Given the description of an element on the screen output the (x, y) to click on. 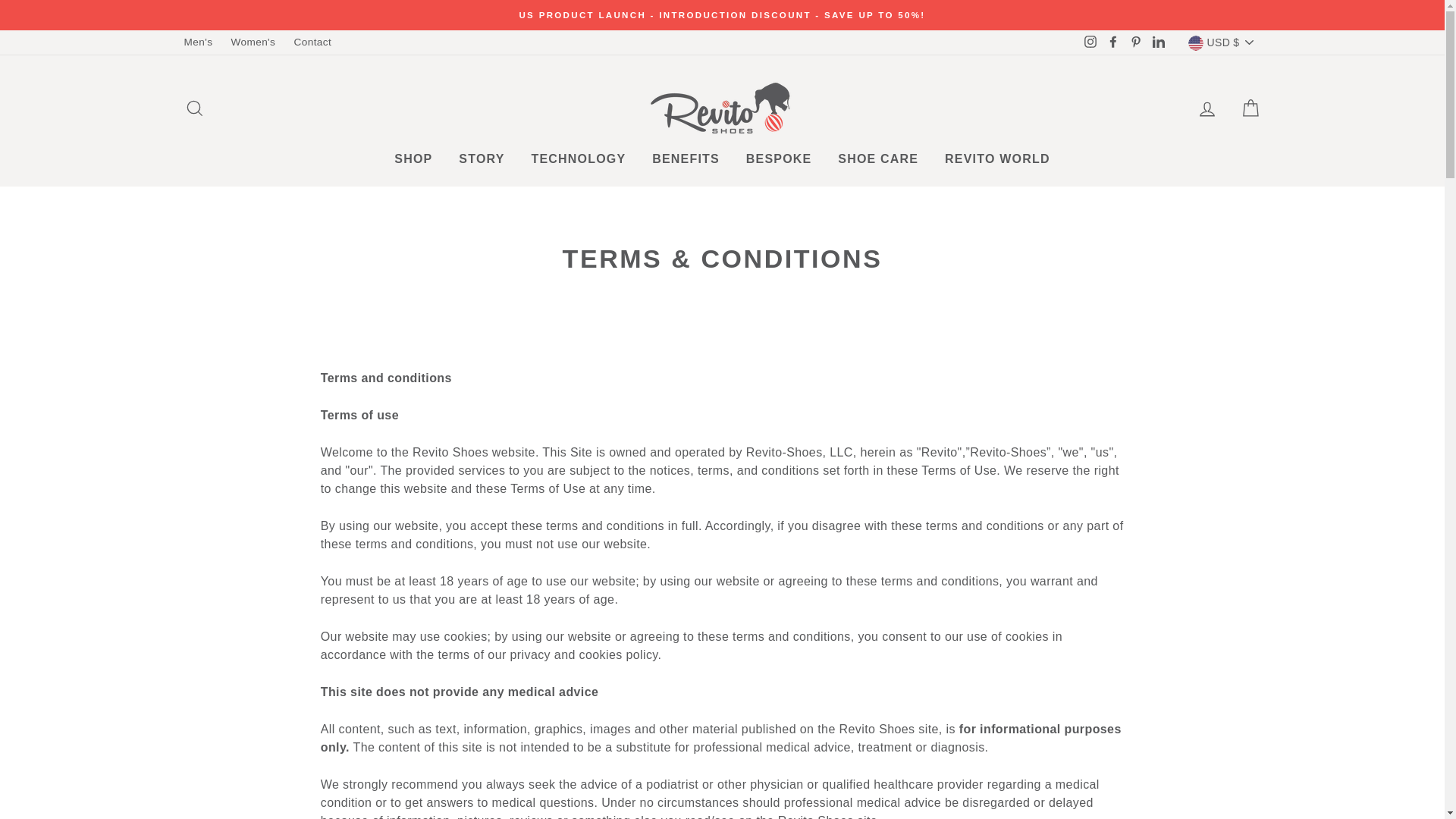
Revito Shoes on LinkedIn (1158, 42)
Revito Shoes on Pinterest (1135, 42)
Revito Shoes on Instagram (1090, 42)
Revito Shoes on Facebook (1112, 42)
